Given the description of an element on the screen output the (x, y) to click on. 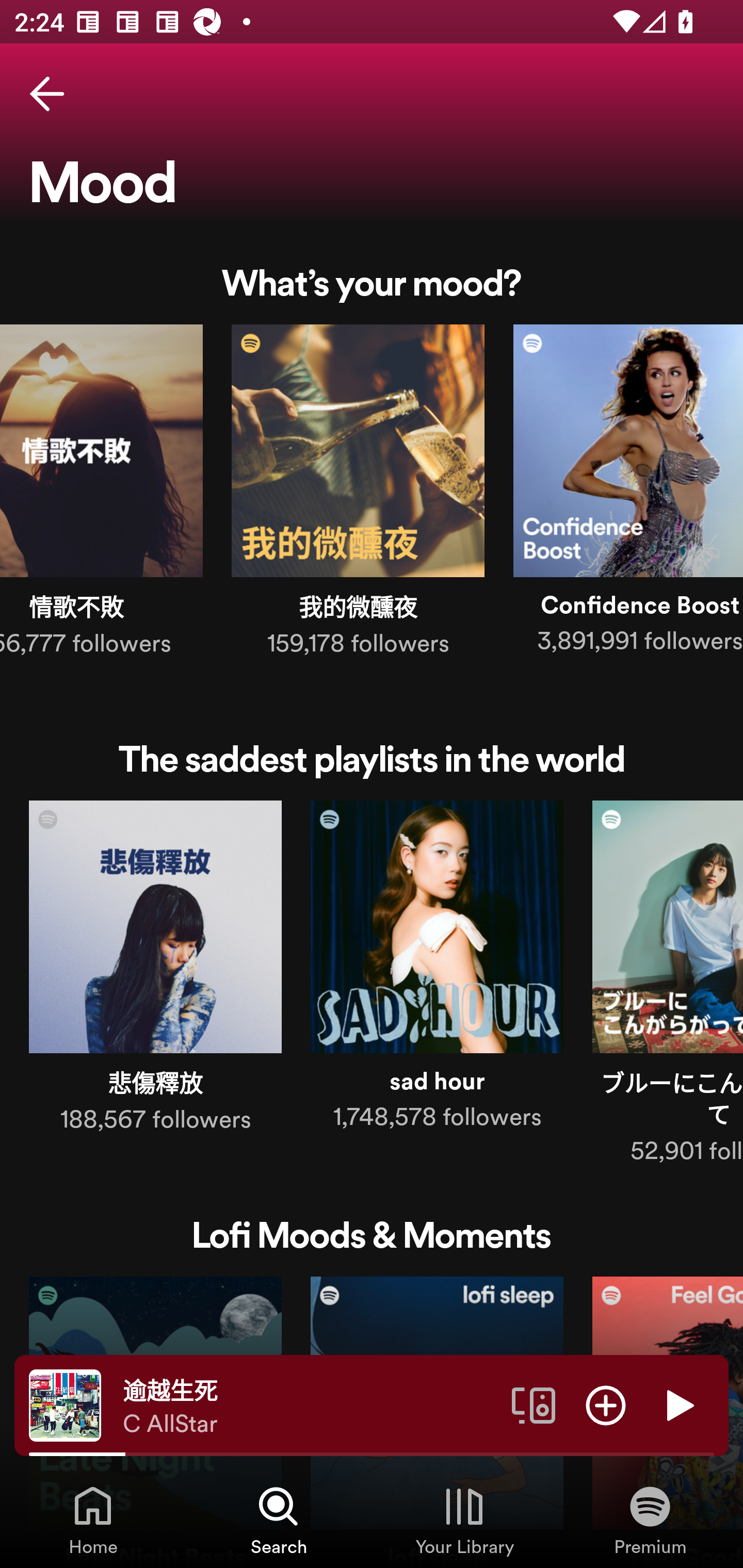
Back (46, 93)
情歌不敗
166,777 followers 情歌不敗 166,777 followers (101, 494)
我的微醺夜
159,178 followers 我的微醺夜 159,178 followers (357, 494)
悲傷釋放
188,567 followers 悲傷釋放 188,567 followers (154, 971)
逾越生死 C AllStar (309, 1405)
The cover art of the currently playing track (64, 1404)
Connect to a device. Opens the devices menu (533, 1404)
Add item (605, 1404)
Play (677, 1404)
Home, Tab 1 of 4 Home Home (92, 1519)
Search, Tab 2 of 4 Search Search (278, 1519)
Your Library, Tab 3 of 4 Your Library Your Library (464, 1519)
Premium, Tab 4 of 4 Premium Premium (650, 1519)
